Given the description of an element on the screen output the (x, y) to click on. 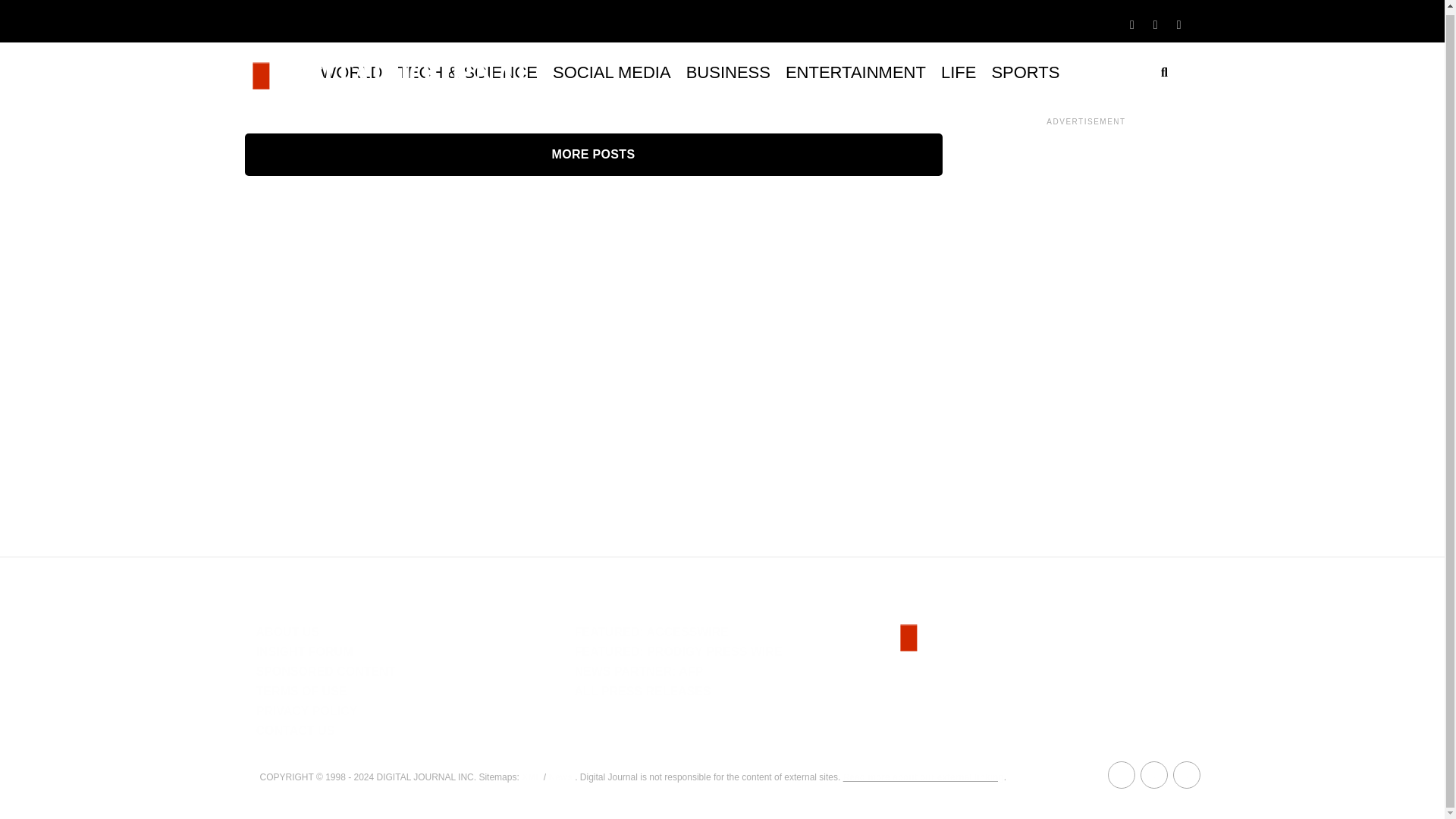
XML (530, 776)
ABOUT US (288, 631)
News (560, 776)
NEWS PARTNER: AFP (638, 671)
MORE POSTS (593, 154)
FEATURED: PRODIGY PRESS WIRE (677, 651)
PRIVACY POLICY (307, 710)
ALL PRESS RELEASES (641, 690)
SPORTS (1025, 72)
SOCIAL MEDIA (611, 72)
BUSINESS (727, 72)
FEATURED: ACCESSWIRE (651, 631)
Read more about our external linking (923, 776)
TERMS OF USE (301, 690)
ENTERTAINMENT (855, 72)
